Given the description of an element on the screen output the (x, y) to click on. 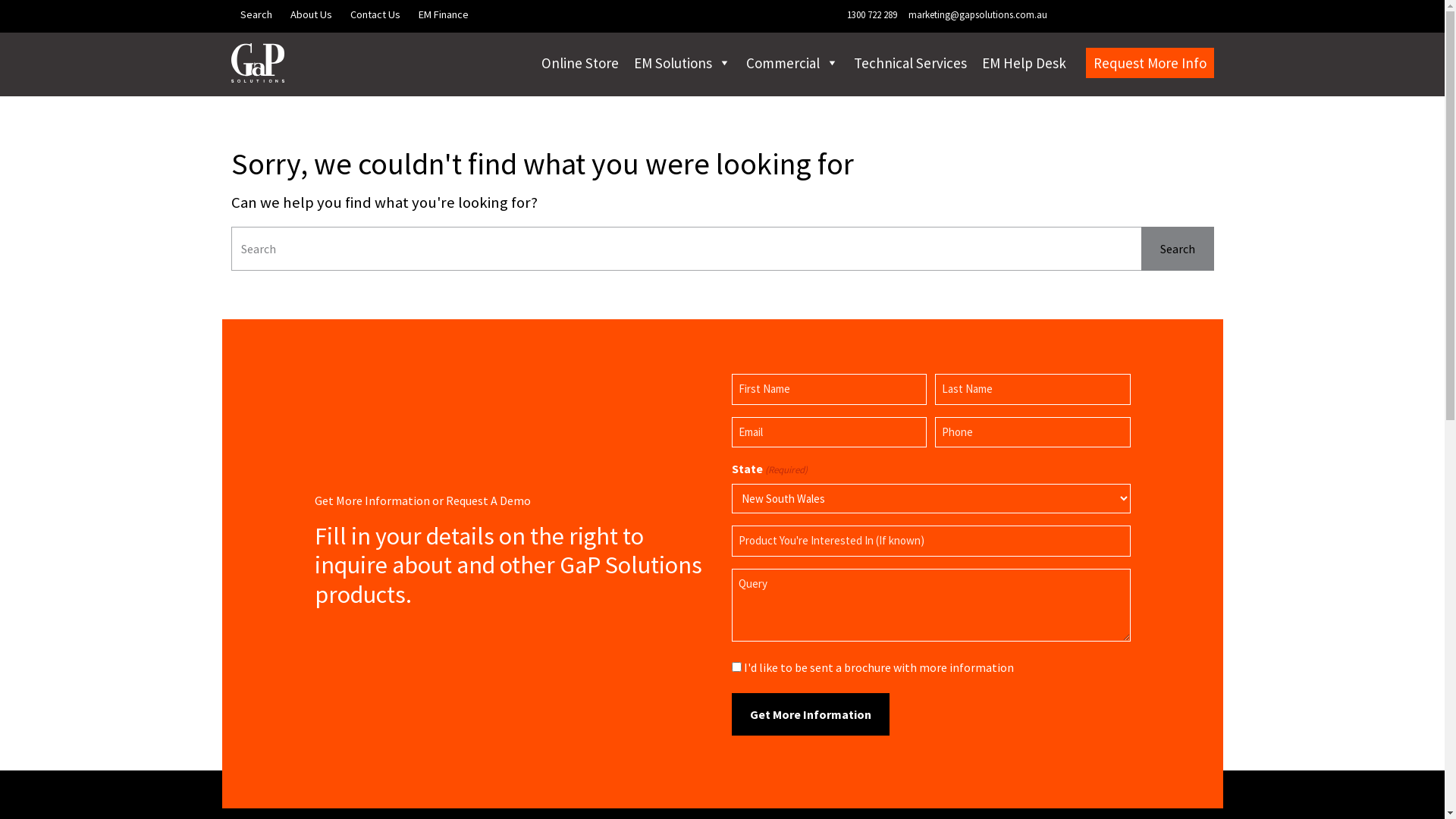
Technical Services Element type: text (910, 62)
Commercial Element type: text (792, 62)
Search Element type: text (255, 14)
EM Help Desk Element type: text (1023, 62)
Request More Info Element type: text (1149, 62)
marketing@gapsolutions.com.au Element type: text (976, 14)
Online Store Element type: text (579, 62)
1300 722 289 Element type: text (870, 14)
Contact Us Element type: text (375, 14)
Get More Information Element type: text (809, 714)
About Us Element type: text (310, 14)
Search Element type: text (1176, 248)
EM Finance Element type: text (443, 14)
EM Solutions Element type: text (682, 62)
